Given the description of an element on the screen output the (x, y) to click on. 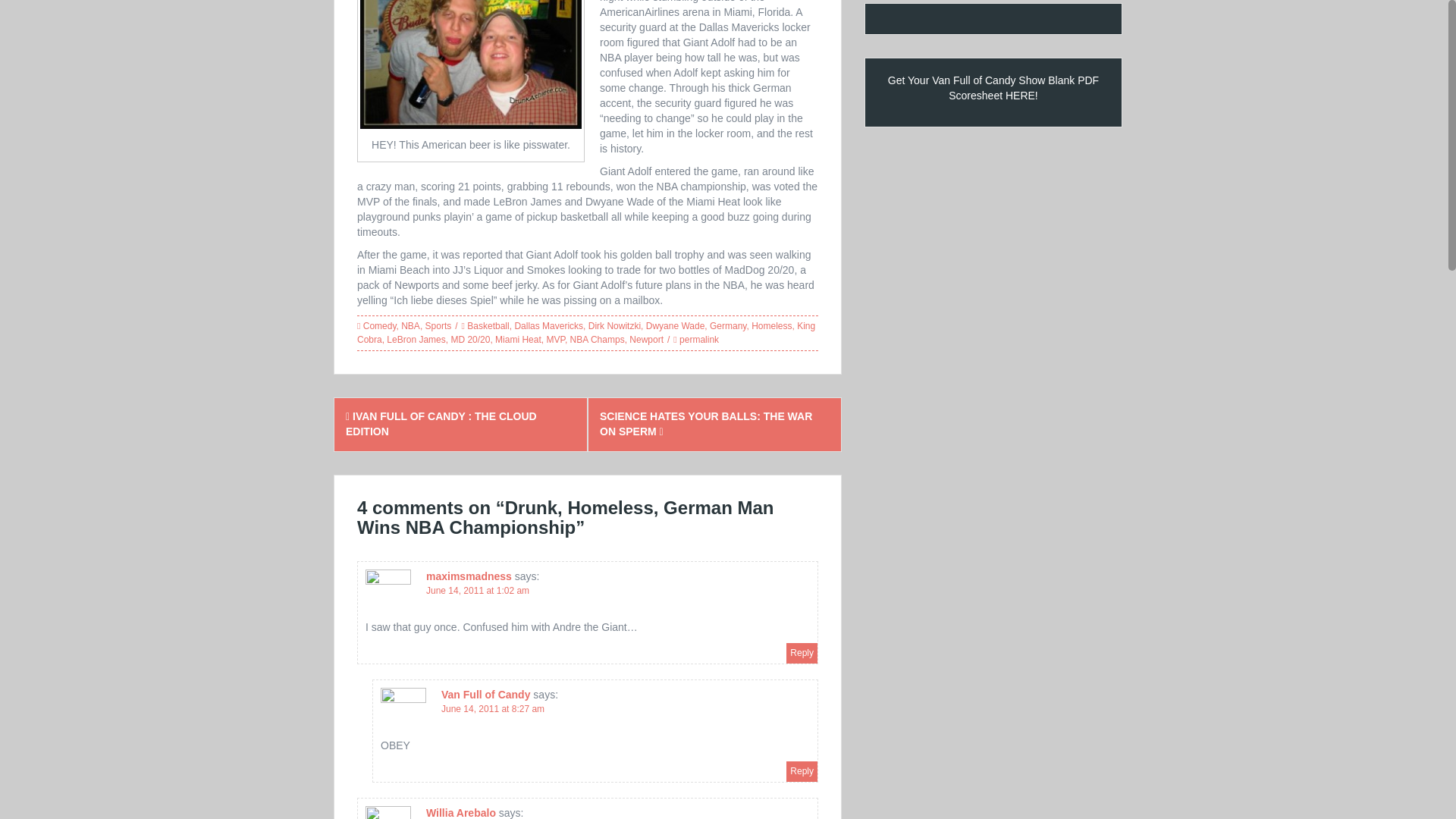
Drunk Dirk (469, 64)
